Given the description of an element on the screen output the (x, y) to click on. 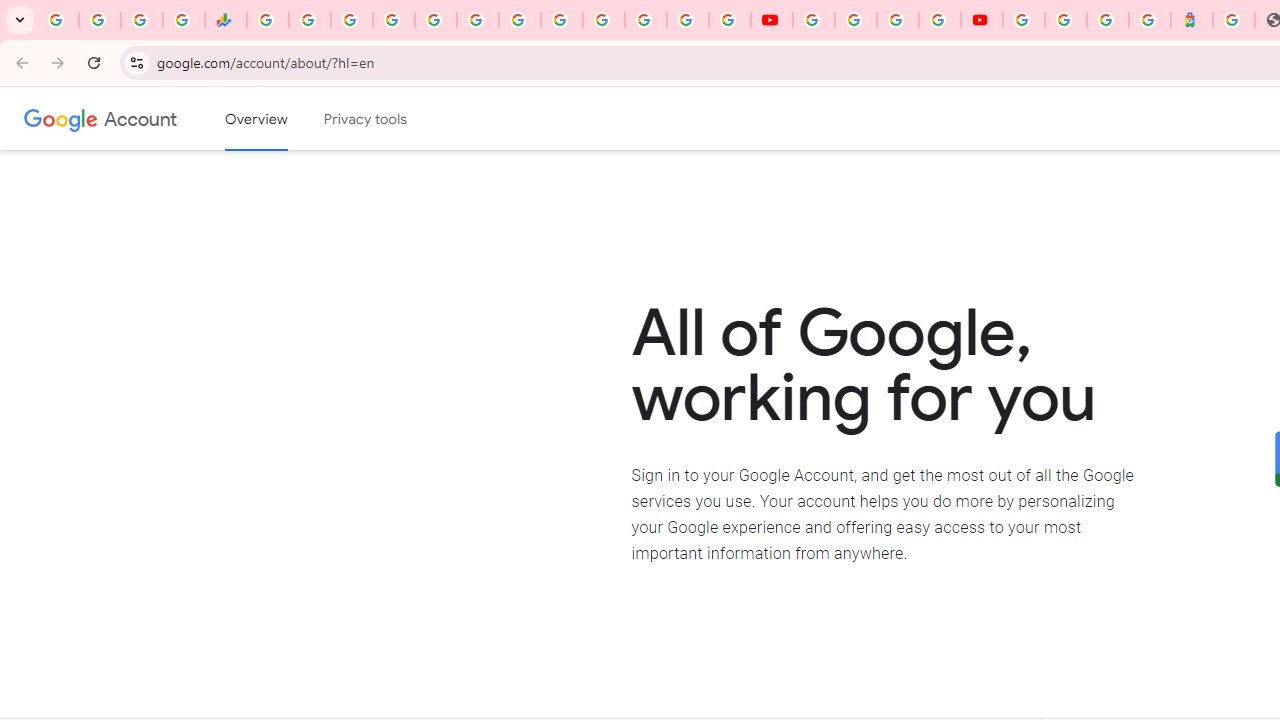
Sign in - Google Accounts (393, 20)
Sign in - Google Accounts (1023, 20)
Google Account Help (855, 20)
Google Account overview (256, 119)
Content Creator Programs & Opportunities - YouTube Creators (982, 20)
Google logo (61, 118)
Privacy tools (365, 119)
